Given the description of an element on the screen output the (x, y) to click on. 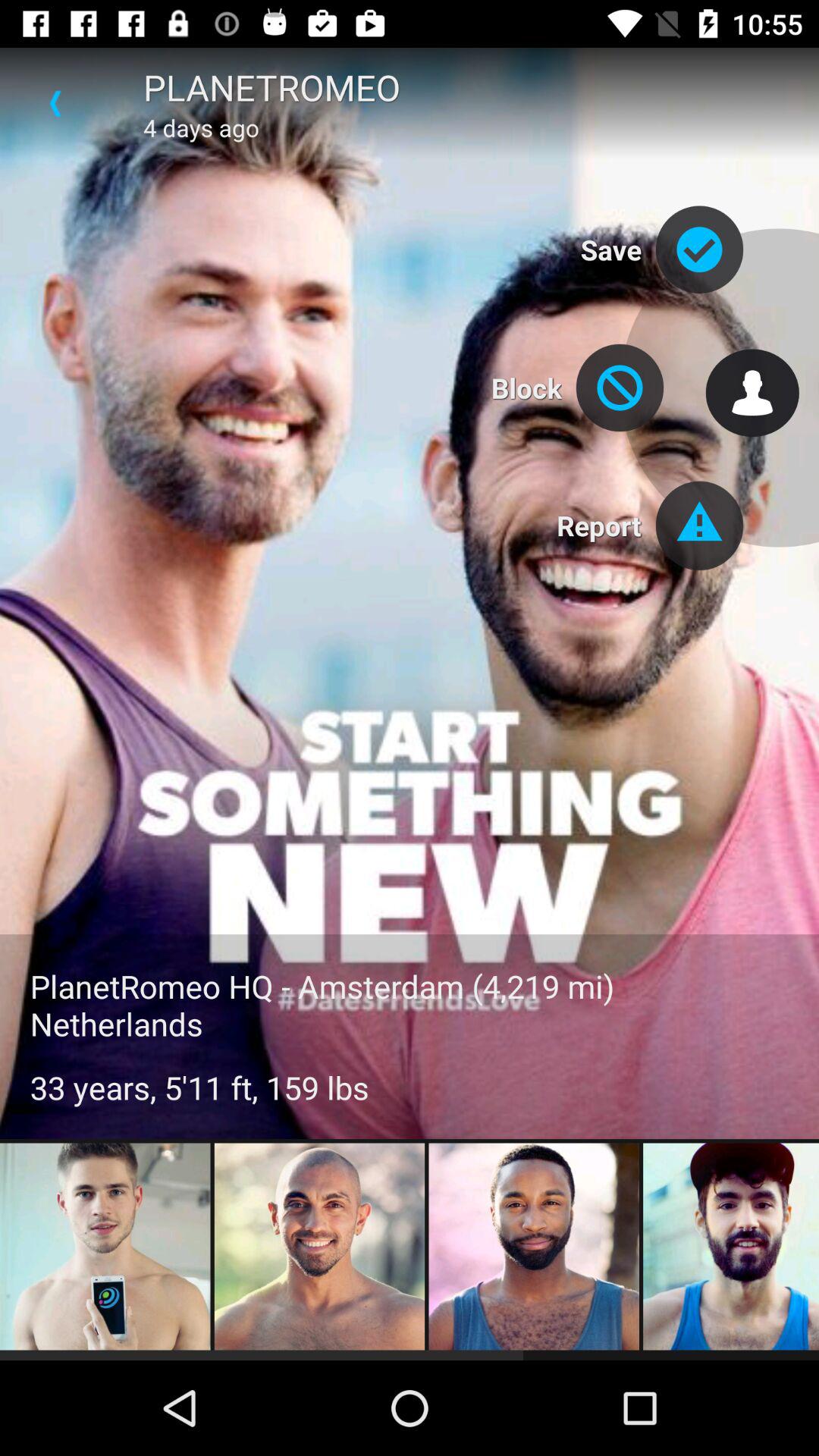
click the item next to the planetromeo (55, 103)
